Given the description of an element on the screen output the (x, y) to click on. 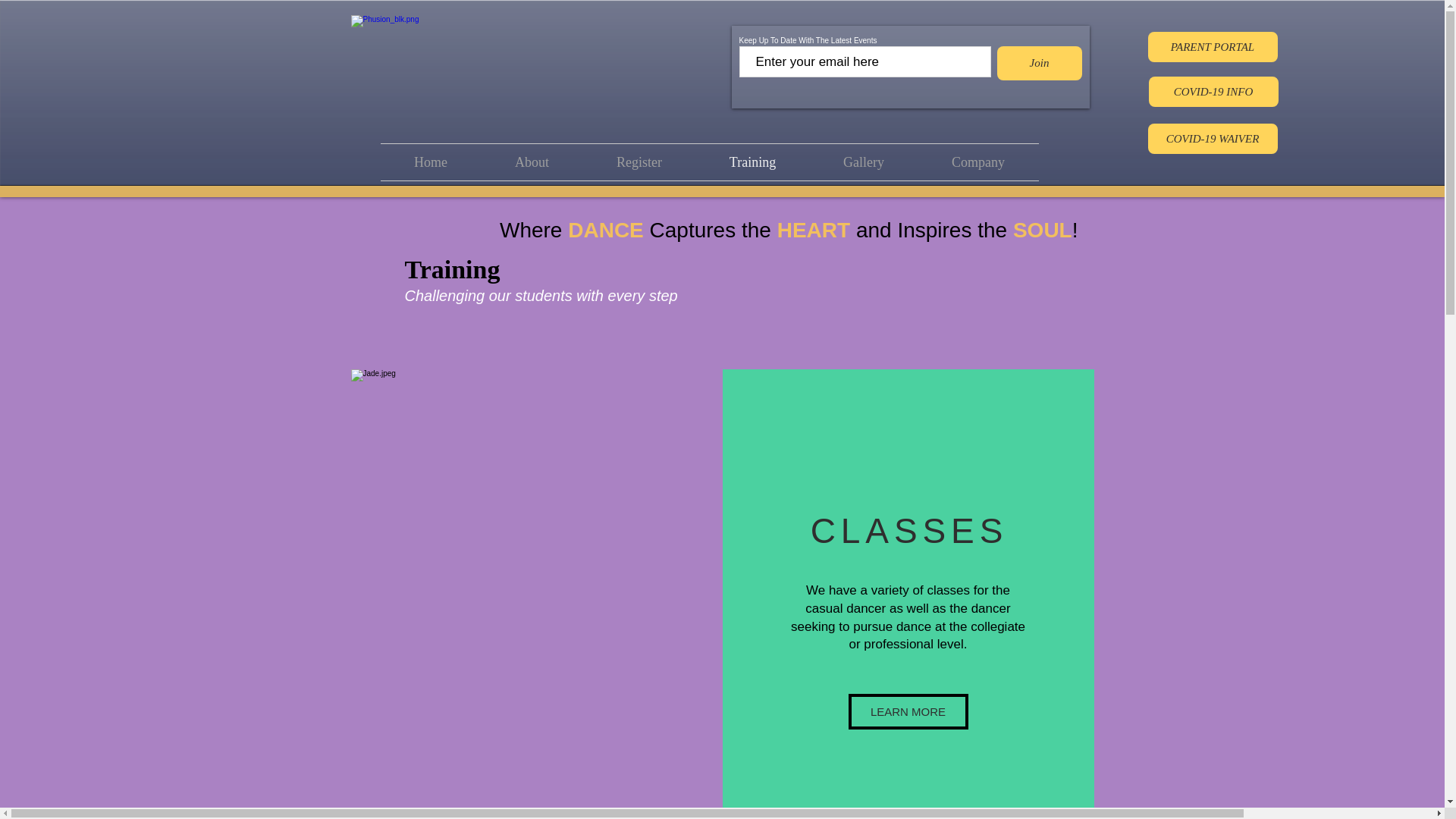
COVID-19 WAIVER (1213, 138)
Join (1038, 62)
Company (977, 162)
LEARN MORE (907, 711)
Training (752, 162)
Register (638, 162)
About (531, 162)
Gallery (863, 162)
Home (430, 162)
COVID-19 INFO (1213, 91)
